Given the description of an element on the screen output the (x, y) to click on. 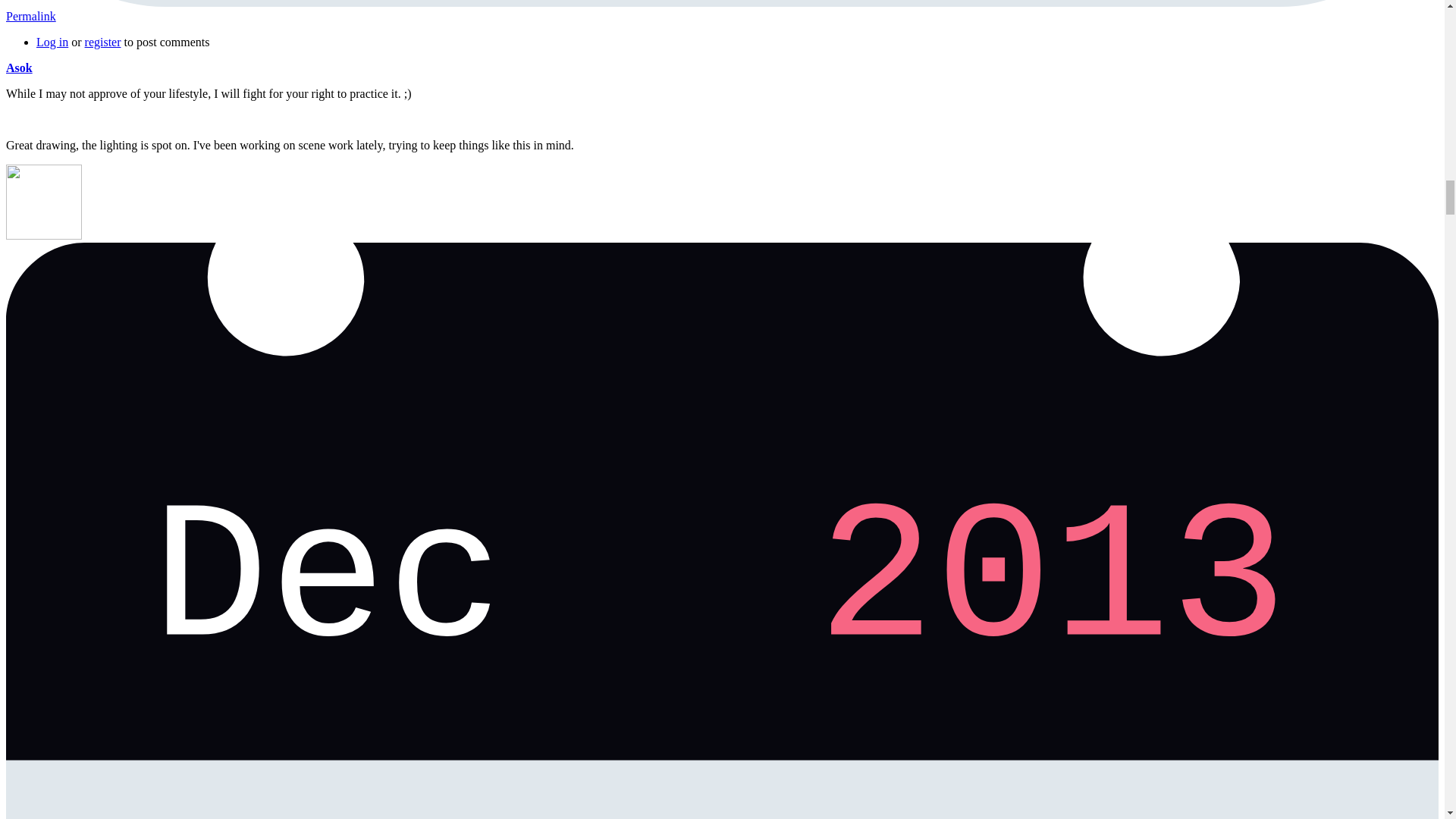
register (102, 42)
Asok (18, 67)
View user profile. (18, 67)
Permalink (30, 15)
Log in (52, 42)
